Given the description of an element on the screen output the (x, y) to click on. 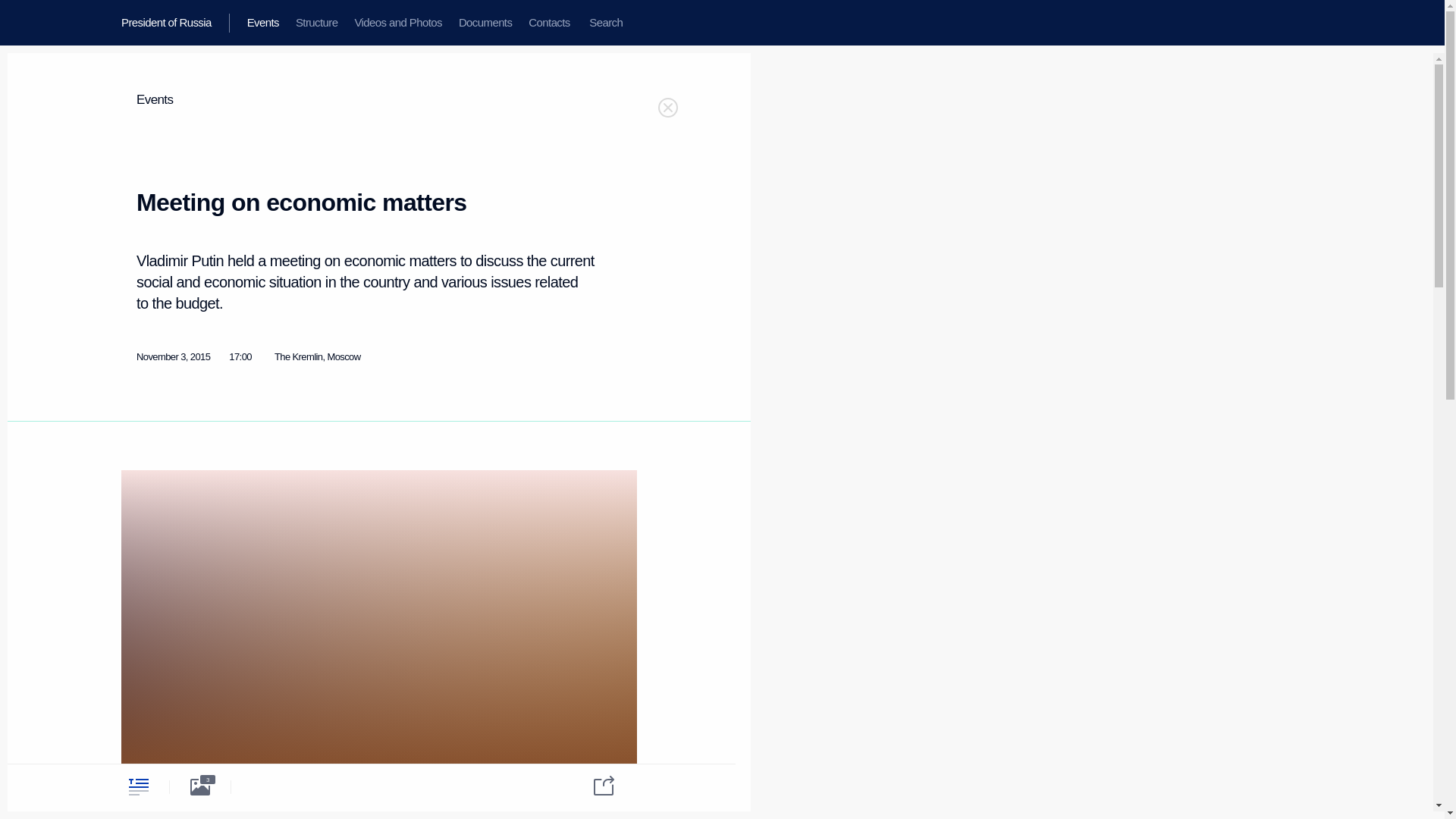
Global website search (605, 22)
President of Russia (175, 22)
Photo (200, 786)
Structure (316, 22)
Text (137, 786)
Search (605, 22)
Events (154, 99)
Events (262, 22)
Share (593, 784)
Videos and Photos (397, 22)
Contacts (548, 22)
Documents (484, 22)
Video (261, 786)
